Given the description of an element on the screen output the (x, y) to click on. 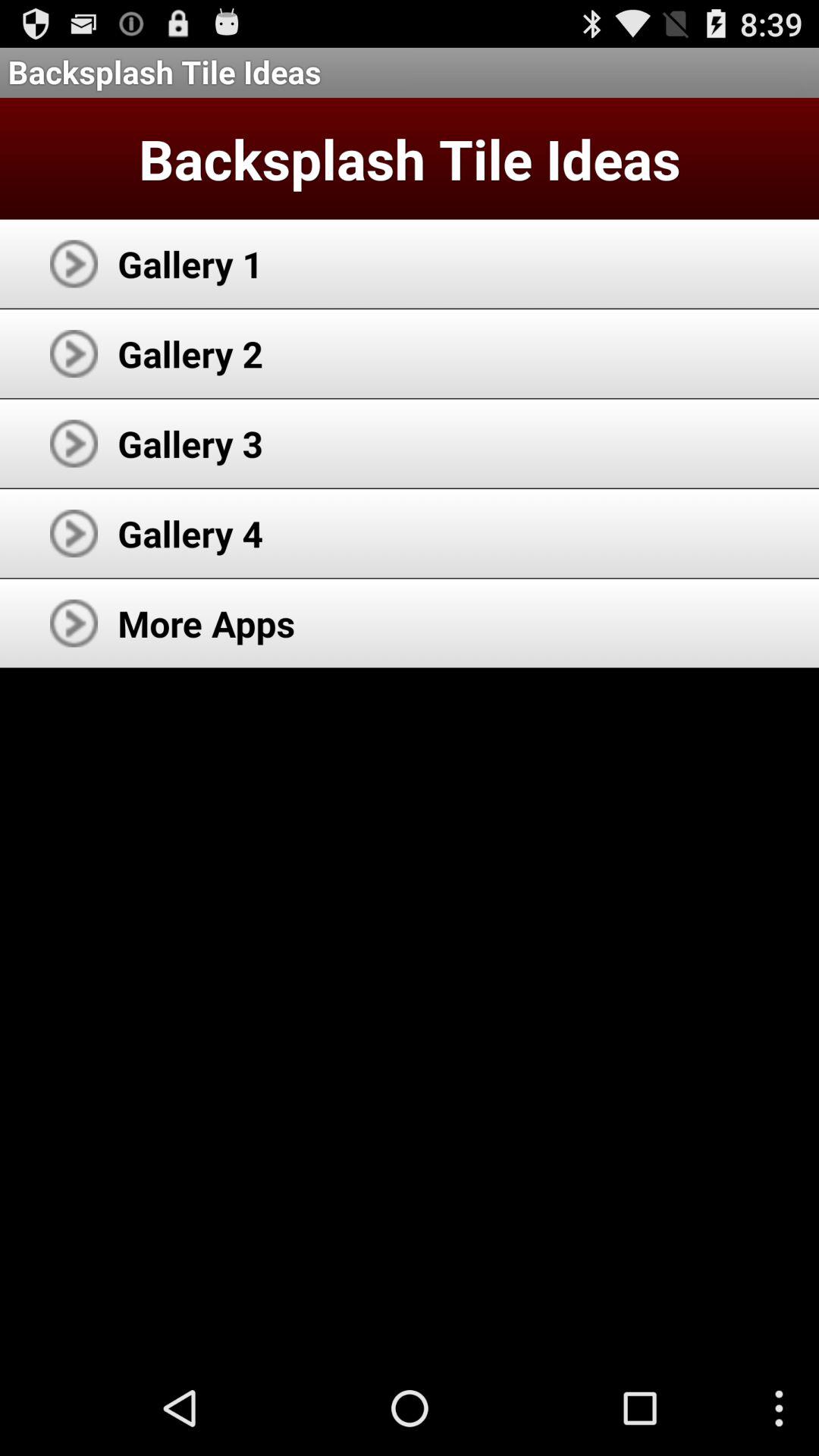
jump to the gallery 3 app (190, 443)
